Given the description of an element on the screen output the (x, y) to click on. 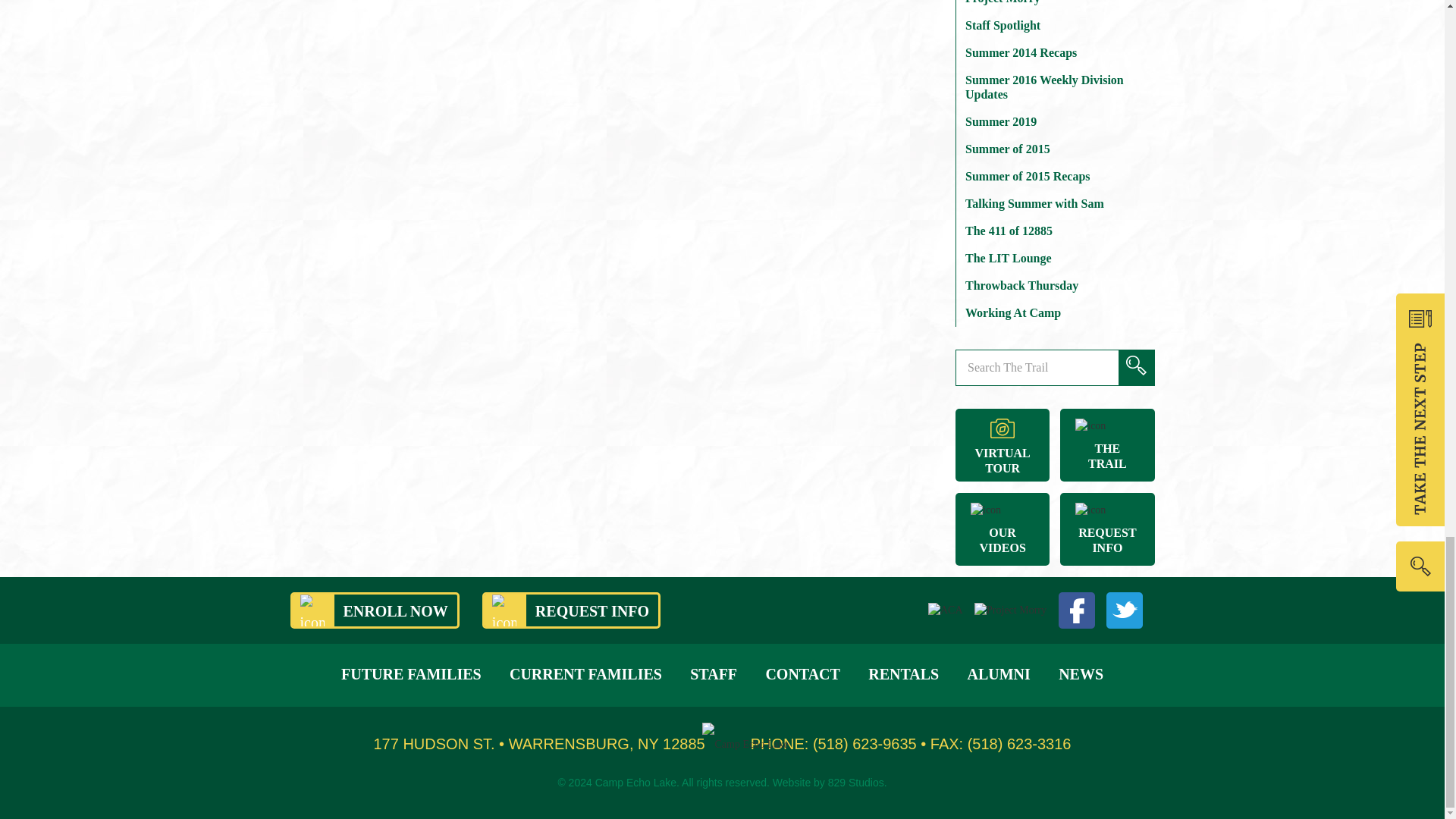
Search The Trail (1054, 367)
search (1136, 367)
Search The Trail (1054, 367)
search (1136, 367)
